Given the description of an element on the screen output the (x, y) to click on. 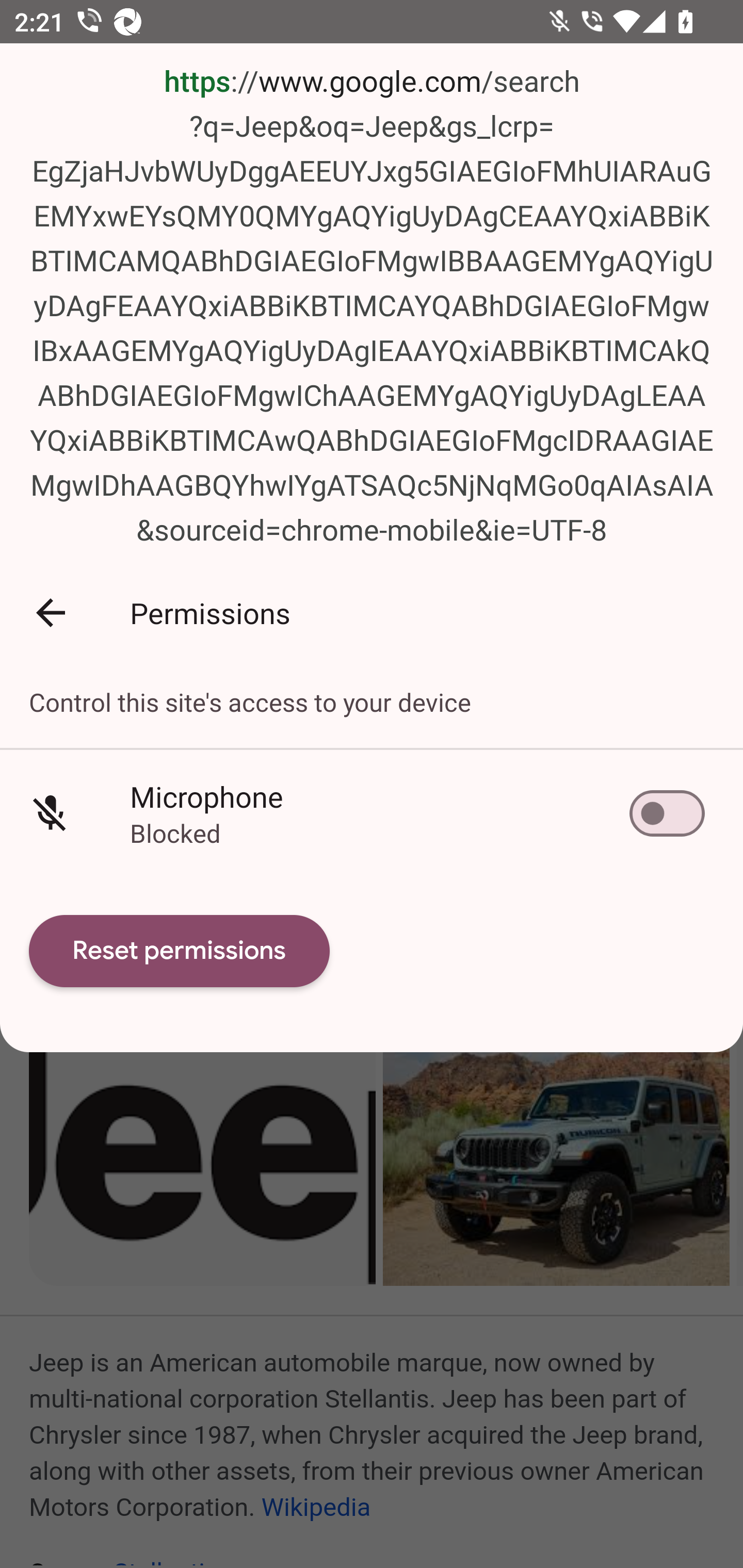
Back (50, 612)
Microphone Blocked (371, 813)
Reset permissions (178, 950)
